Given the description of an element on the screen output the (x, y) to click on. 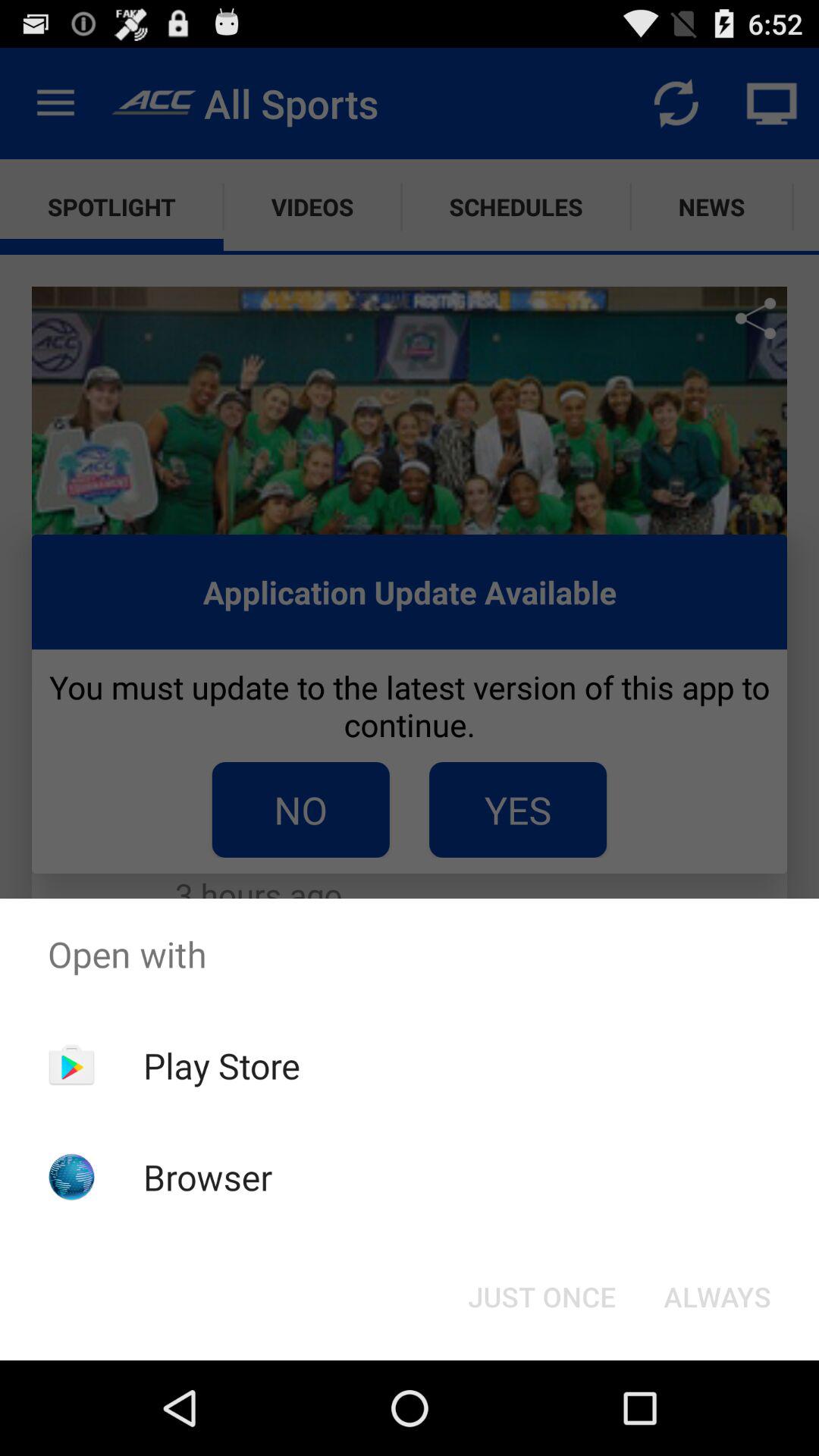
open the button next to always icon (541, 1296)
